Given the description of an element on the screen output the (x, y) to click on. 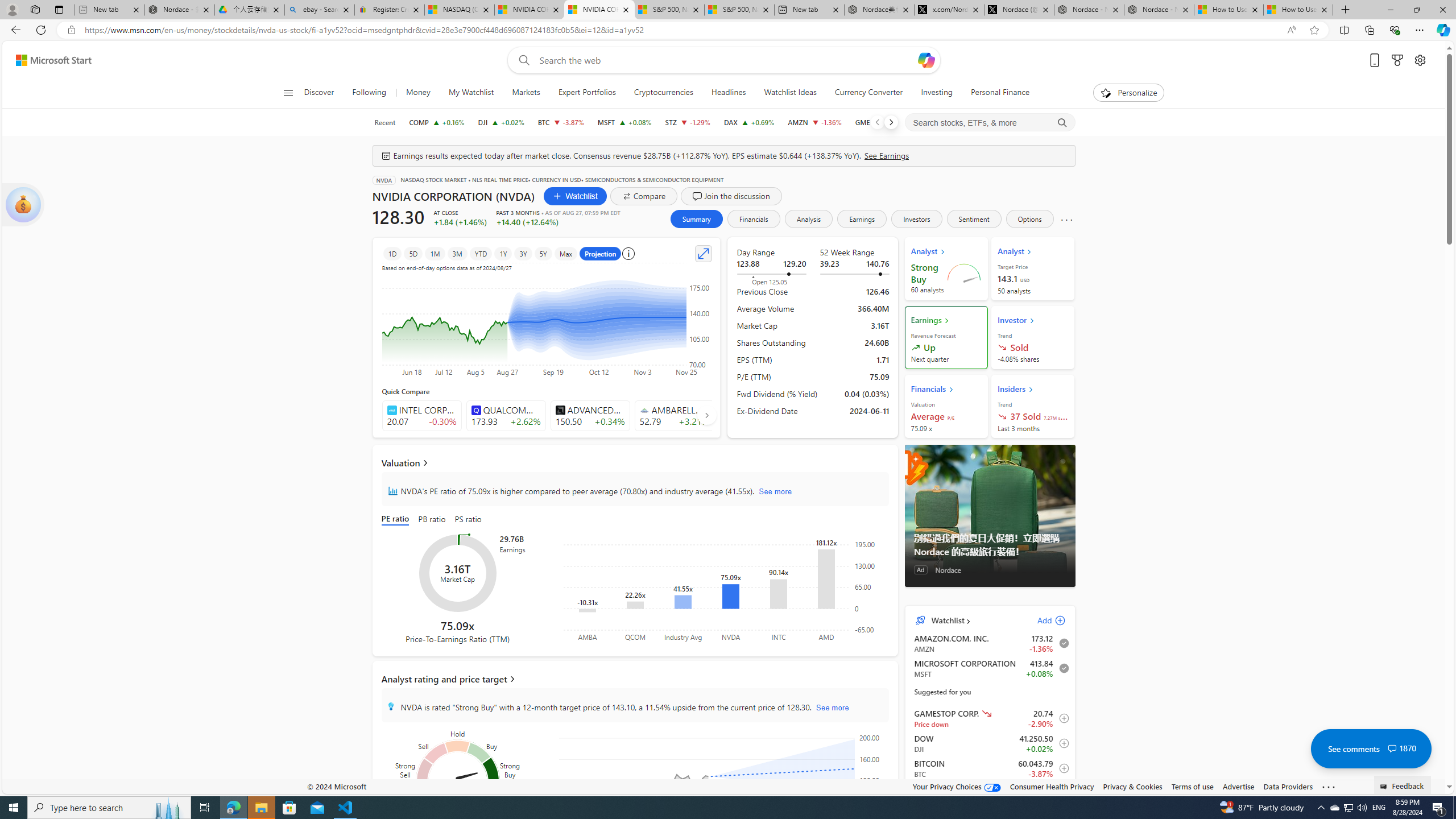
Skip to footer (46, 59)
Enter your search term (726, 59)
1M (435, 253)
PB ratio (431, 520)
Personal Finance (995, 92)
Class: card_head_icon_lightMode-DS-EntryPoint1-1 (1030, 388)
BTC Bitcoin decrease 60,043.79 -2,323.69 -3.87% item2 (989, 767)
Remove from watchlist (1061, 668)
Currency Converter (868, 92)
Privacy & Cookies (1131, 785)
